Given the description of an element on the screen output the (x, y) to click on. 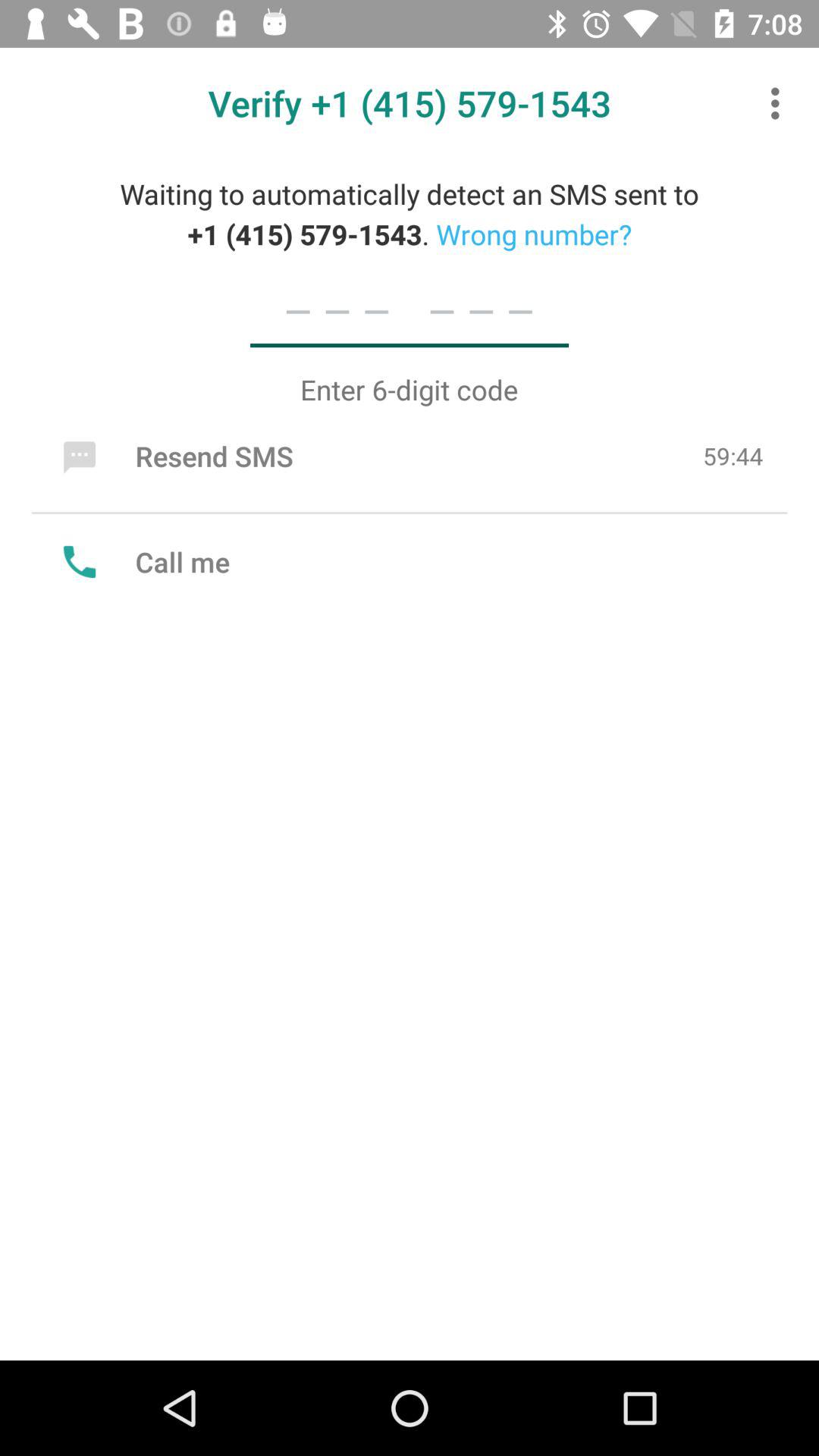
tap call me (142, 561)
